Given the description of an element on the screen output the (x, y) to click on. 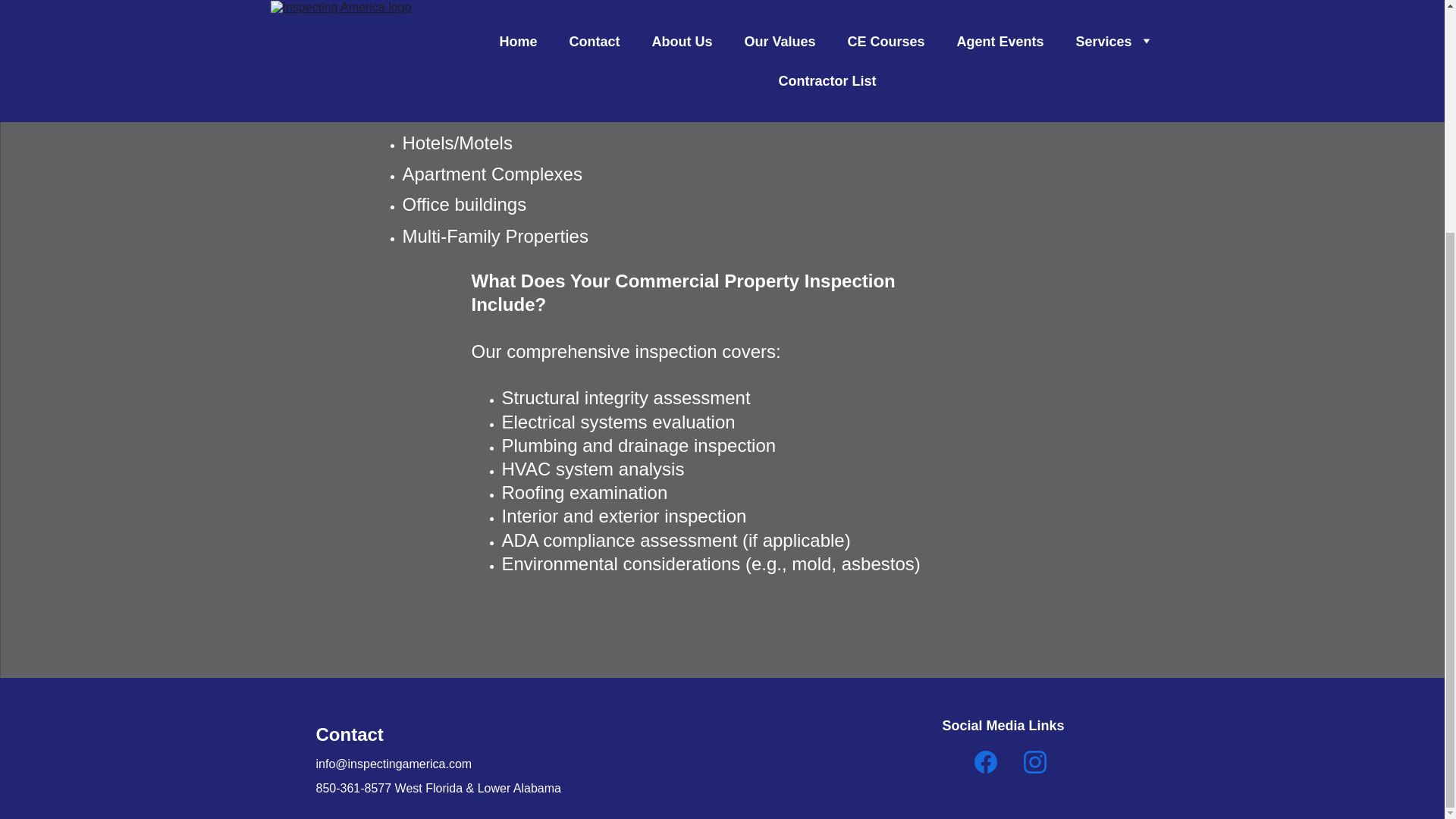
Go to Facebook page (985, 762)
Go to Instagram page (1034, 762)
